Given the description of an element on the screen output the (x, y) to click on. 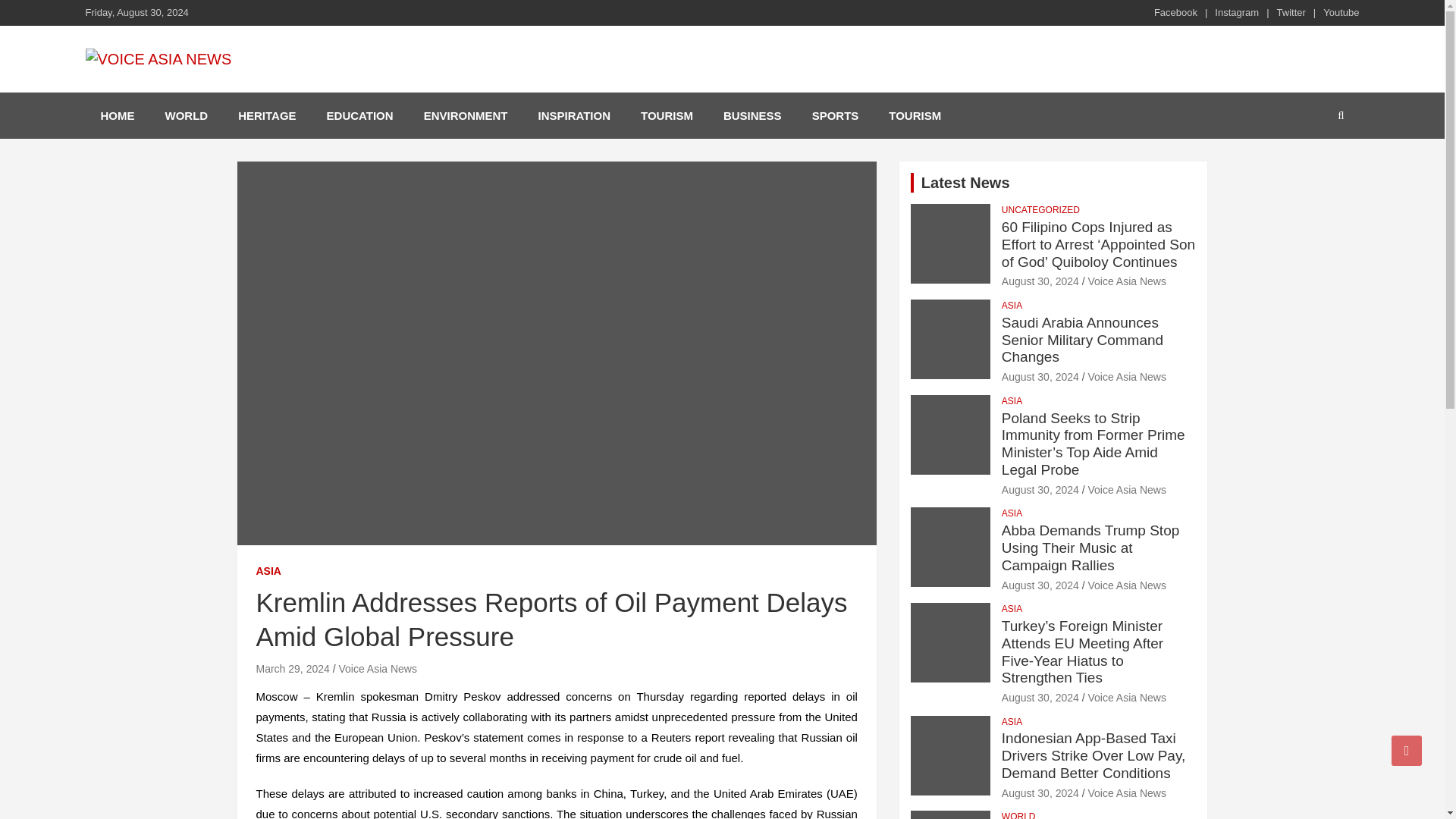
Voice Asia News (376, 668)
HERITAGE (266, 115)
INSPIRATION (574, 115)
August 30, 2024 (1039, 281)
Facebook (1175, 12)
VOICE ASIA NEWS (220, 89)
ASIA (268, 571)
Voice Asia News (1126, 281)
